Given the description of an element on the screen output the (x, y) to click on. 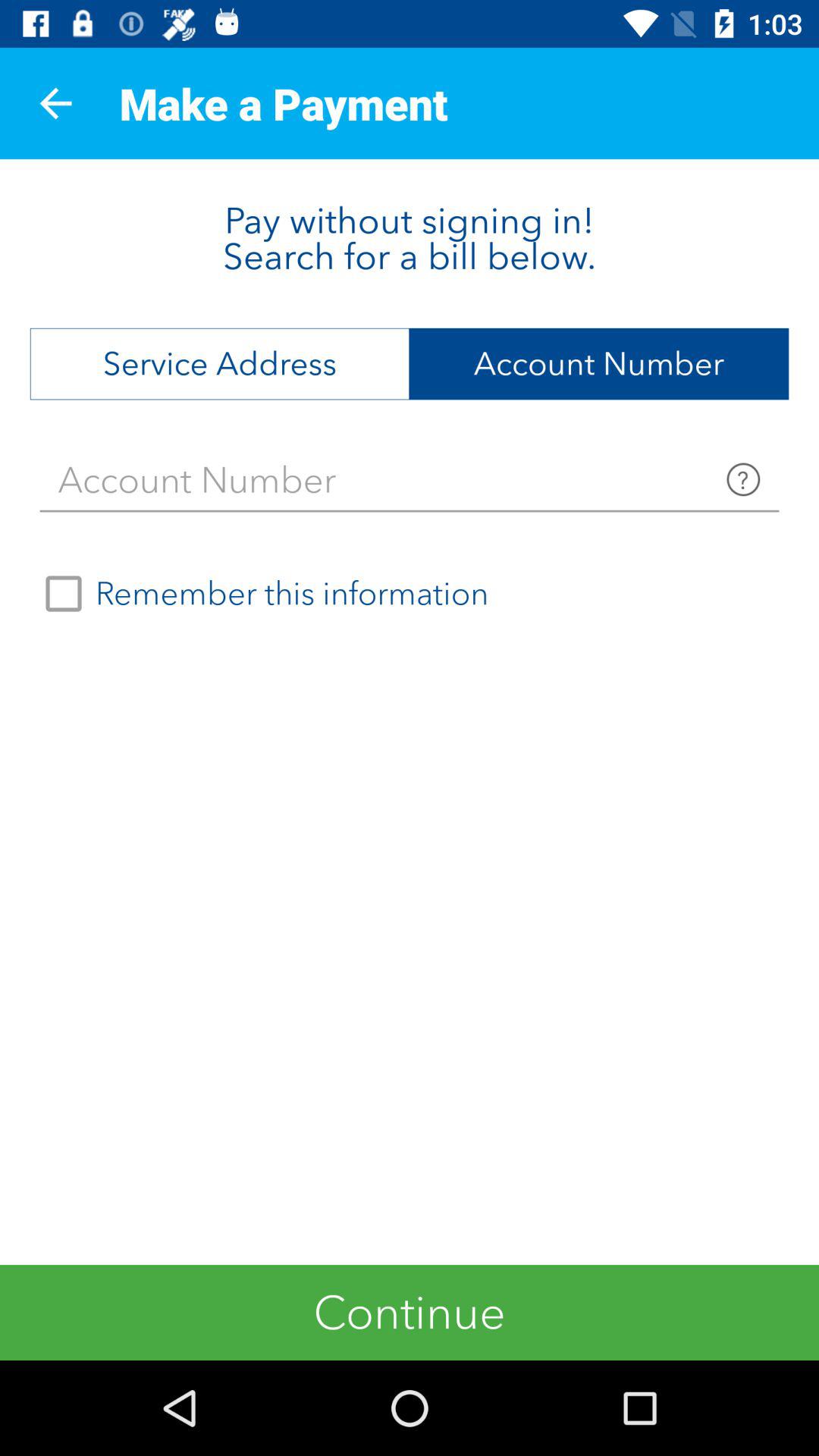
select service address item (219, 363)
